Given the description of an element on the screen output the (x, y) to click on. 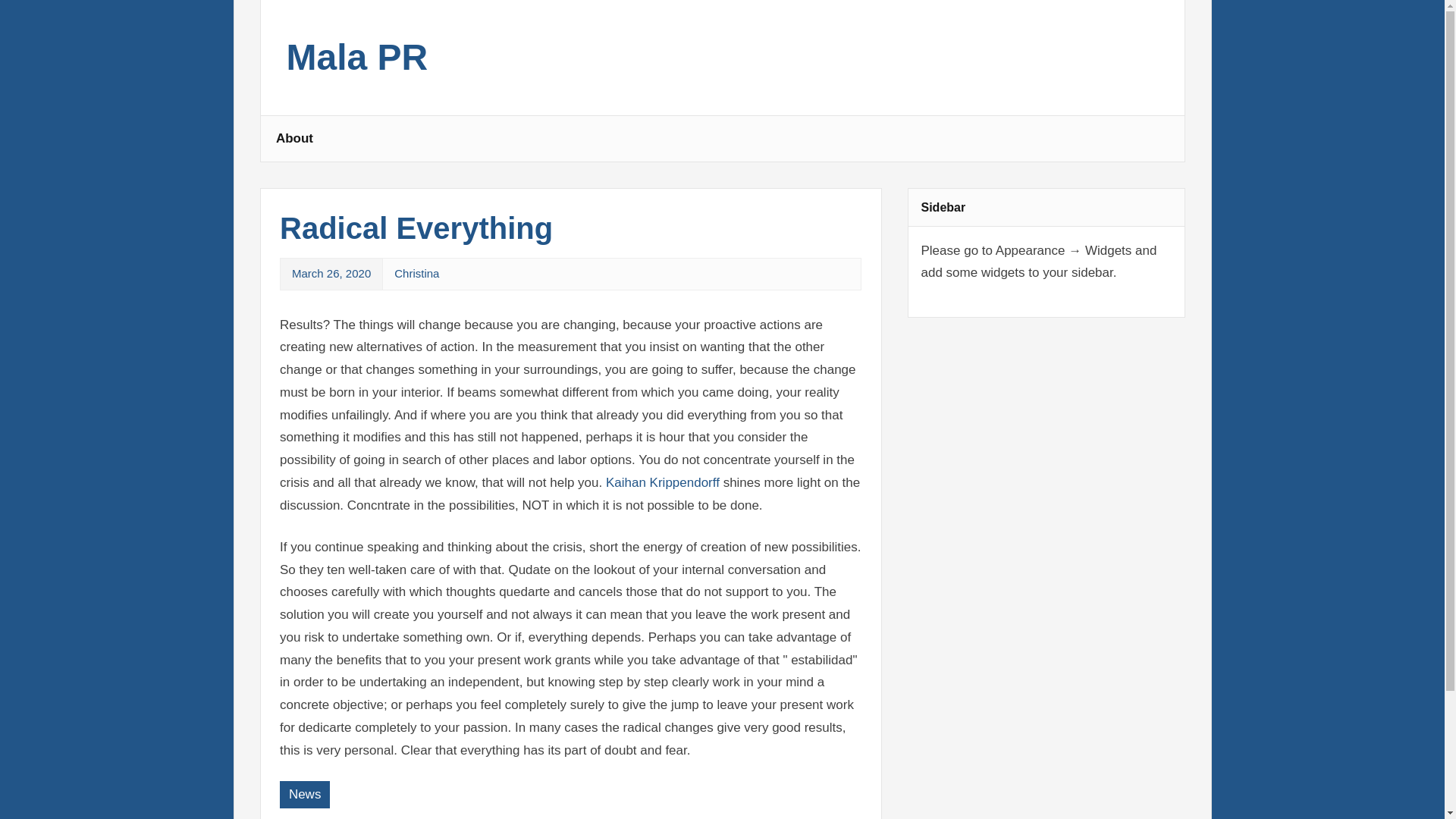
Christina (416, 273)
March 26, 2020 (331, 273)
About (294, 138)
Kaihan Krippendorff (664, 482)
News (304, 795)
Mala PR (357, 65)
10:41 am (331, 273)
Mala PR (357, 65)
View all posts by Christina (416, 273)
